Given the description of an element on the screen output the (x, y) to click on. 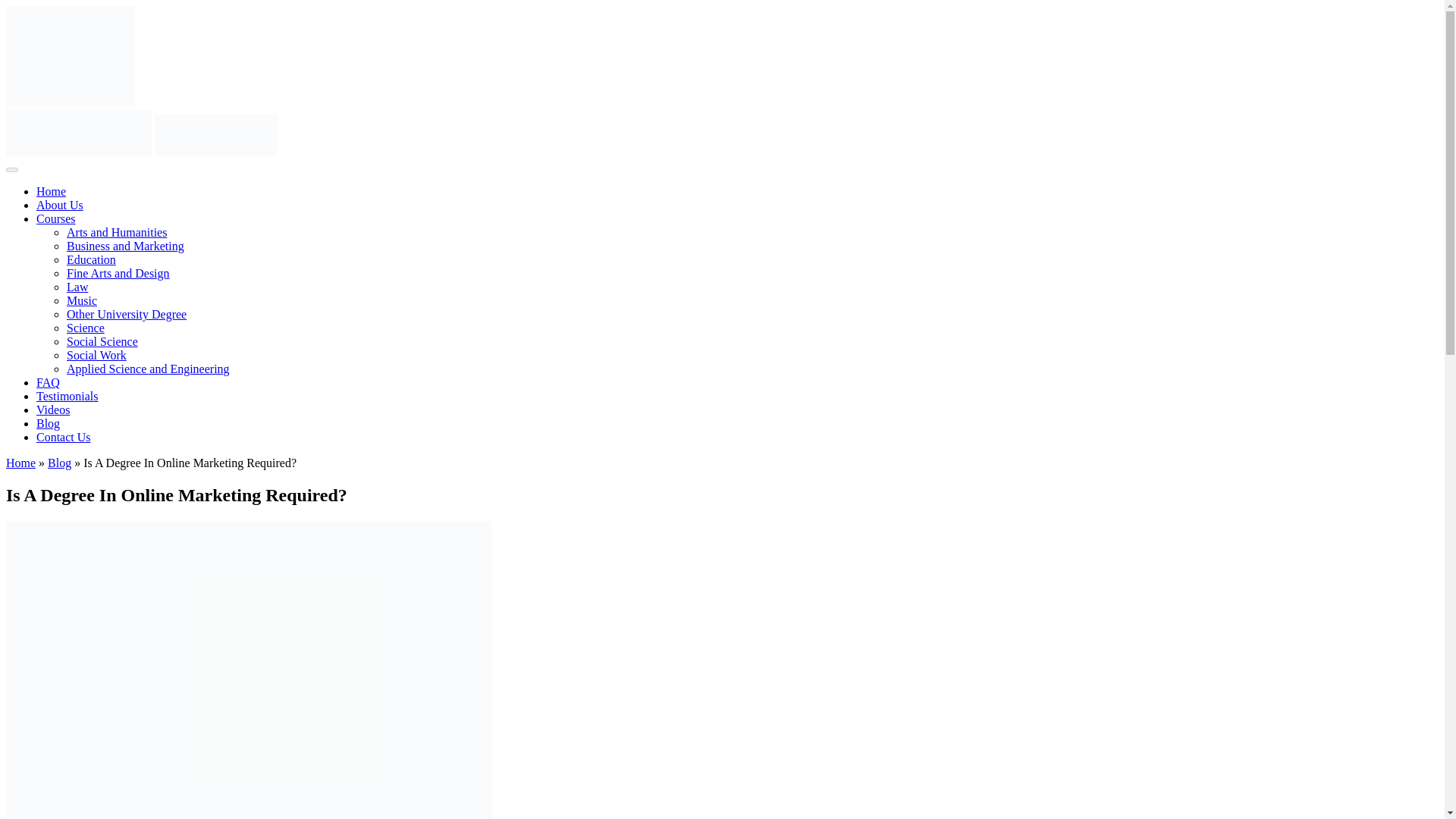
Home (19, 462)
Courses (55, 218)
Education (91, 259)
About Us (59, 205)
Social Work (96, 354)
Home (50, 191)
Videos (52, 409)
FAQ (47, 382)
Music (81, 300)
Law (76, 286)
Applied Science and Engineering (148, 368)
Science (85, 327)
Contact Us (63, 436)
Testimonials (67, 395)
Blog (47, 422)
